Given the description of an element on the screen output the (x, y) to click on. 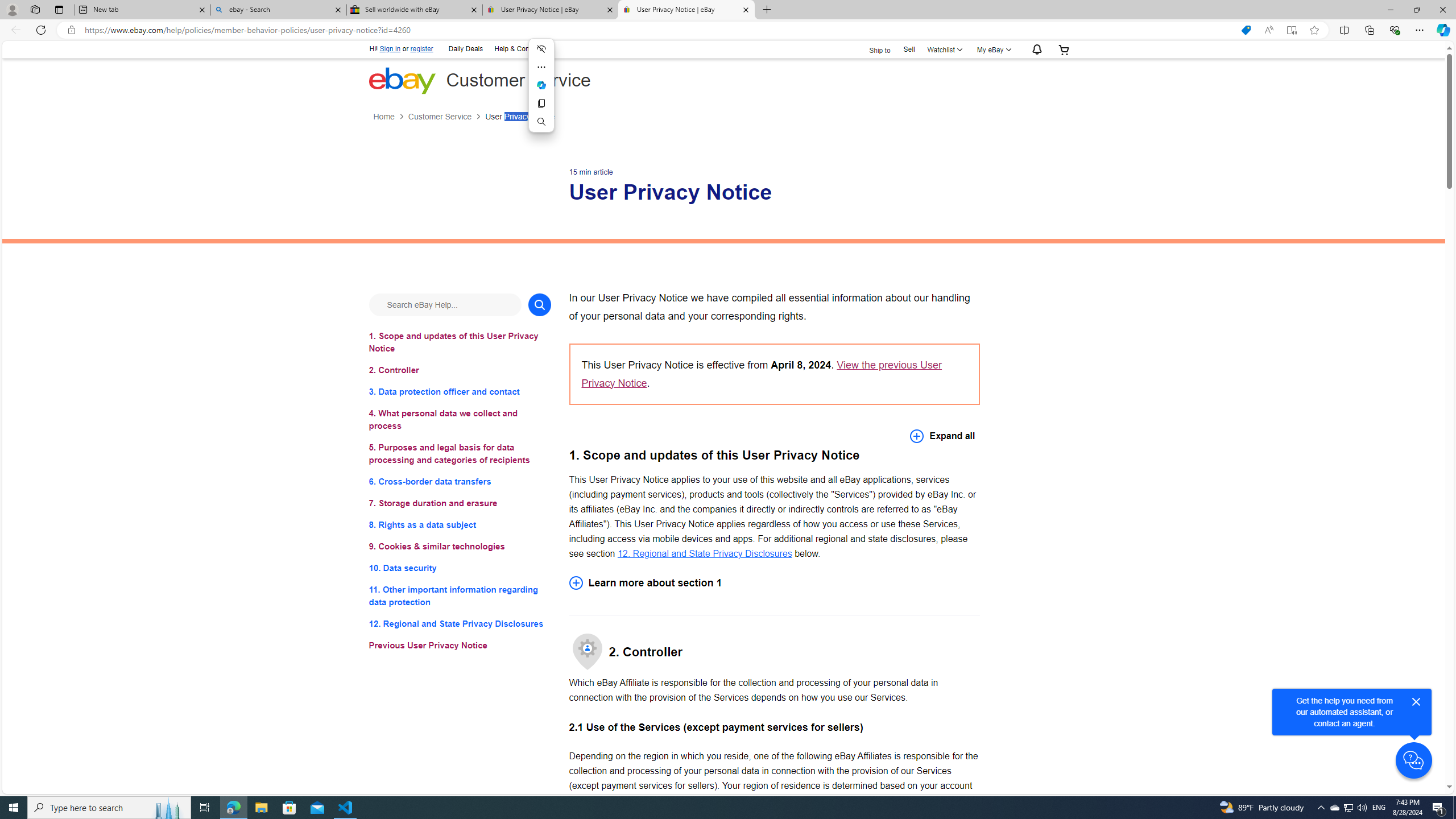
App bar (728, 29)
Watchlist (943, 49)
7. Storage duration and erasure (459, 503)
Sell worldwide with eBay (414, 9)
Mini menu on text selection (541, 91)
eBay Home (401, 80)
Customer Service (446, 117)
6. Cross-border data transfers (459, 481)
